Given the description of an element on the screen output the (x, y) to click on. 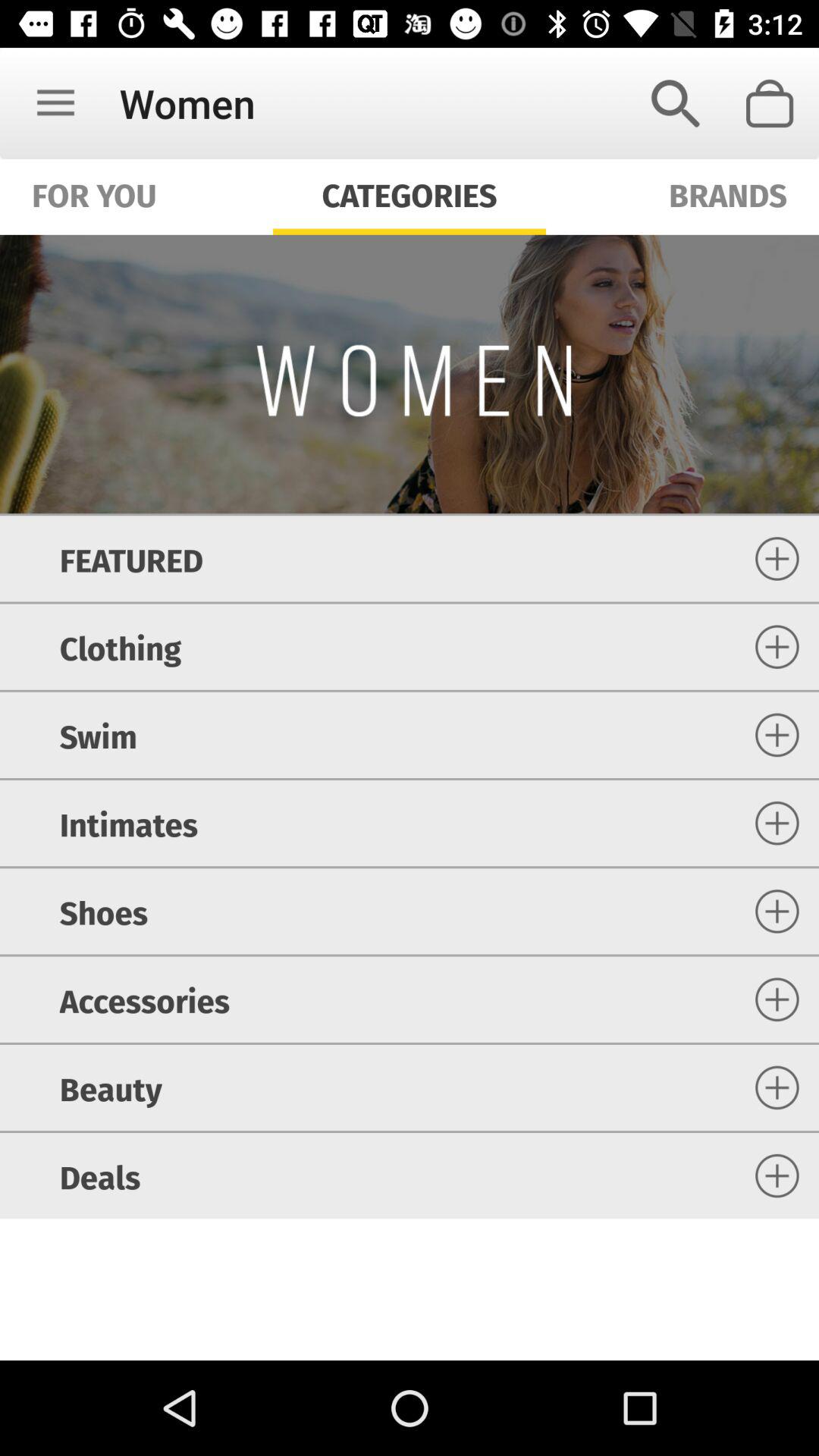
choose item below the accessories (110, 1087)
